Given the description of an element on the screen output the (x, y) to click on. 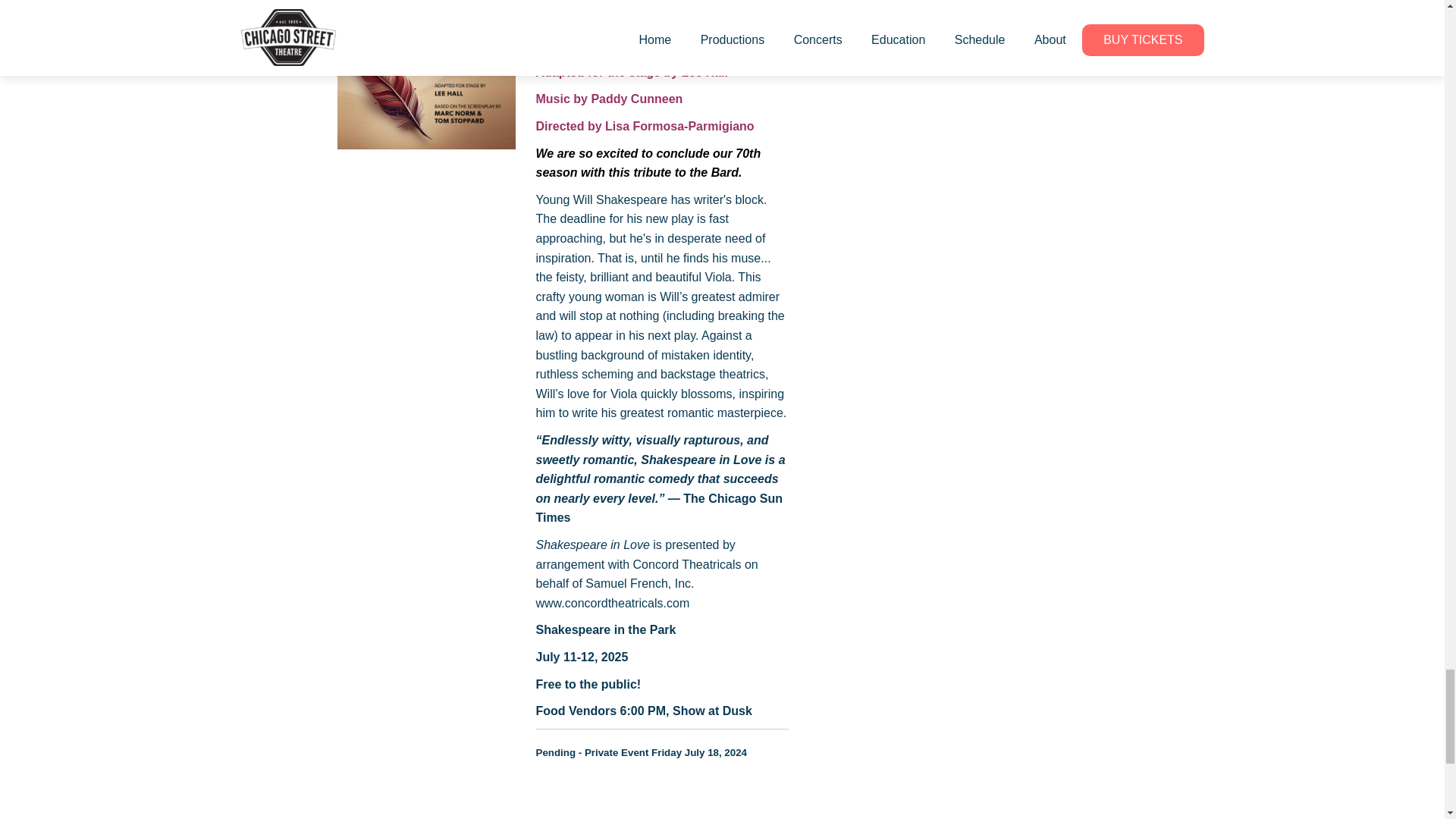
BUY TICKETS (860, 2)
